Given the description of an element on the screen output the (x, y) to click on. 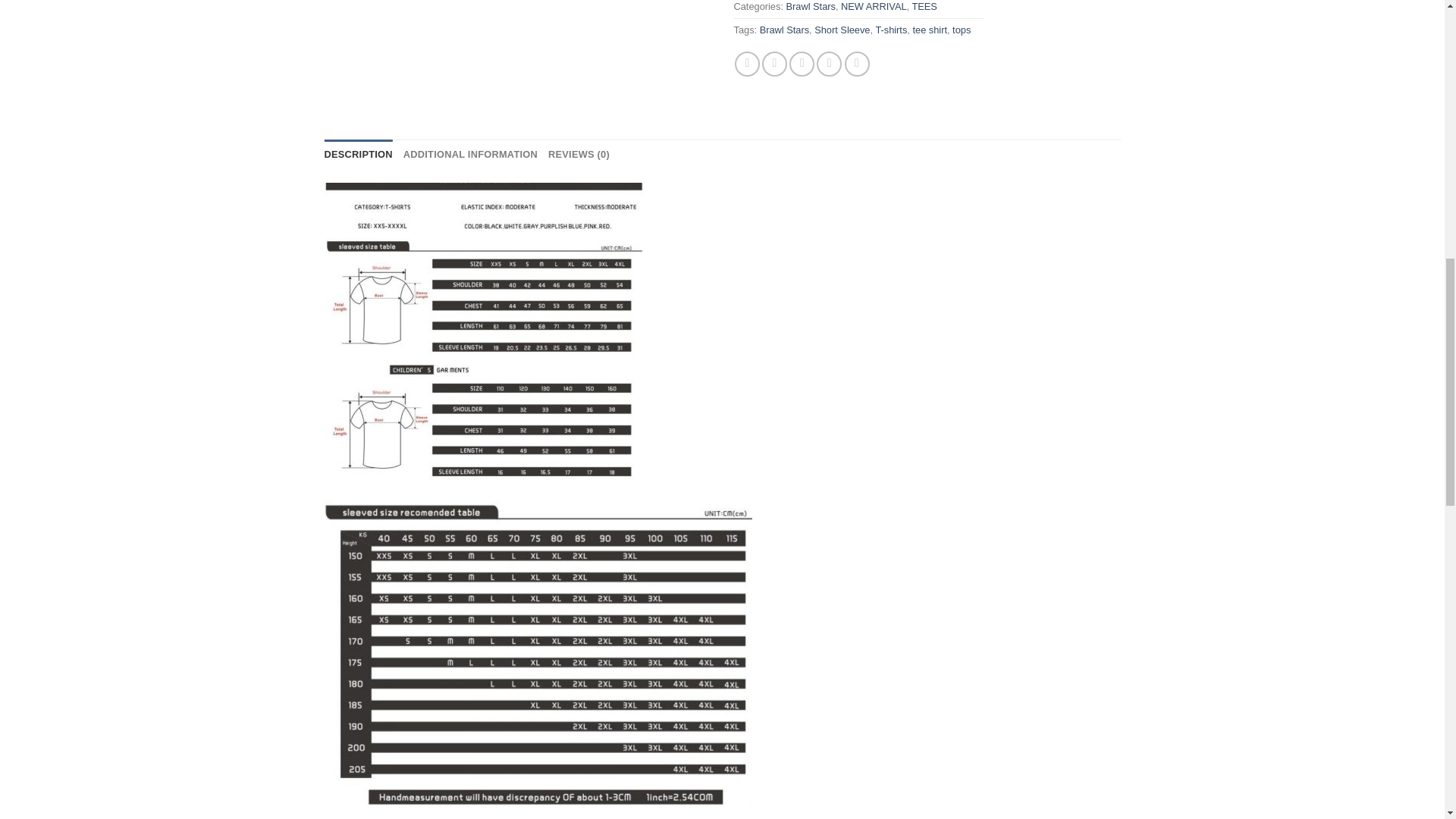
Share on Twitter (774, 63)
Share on Facebook (747, 63)
